Given the description of an element on the screen output the (x, y) to click on. 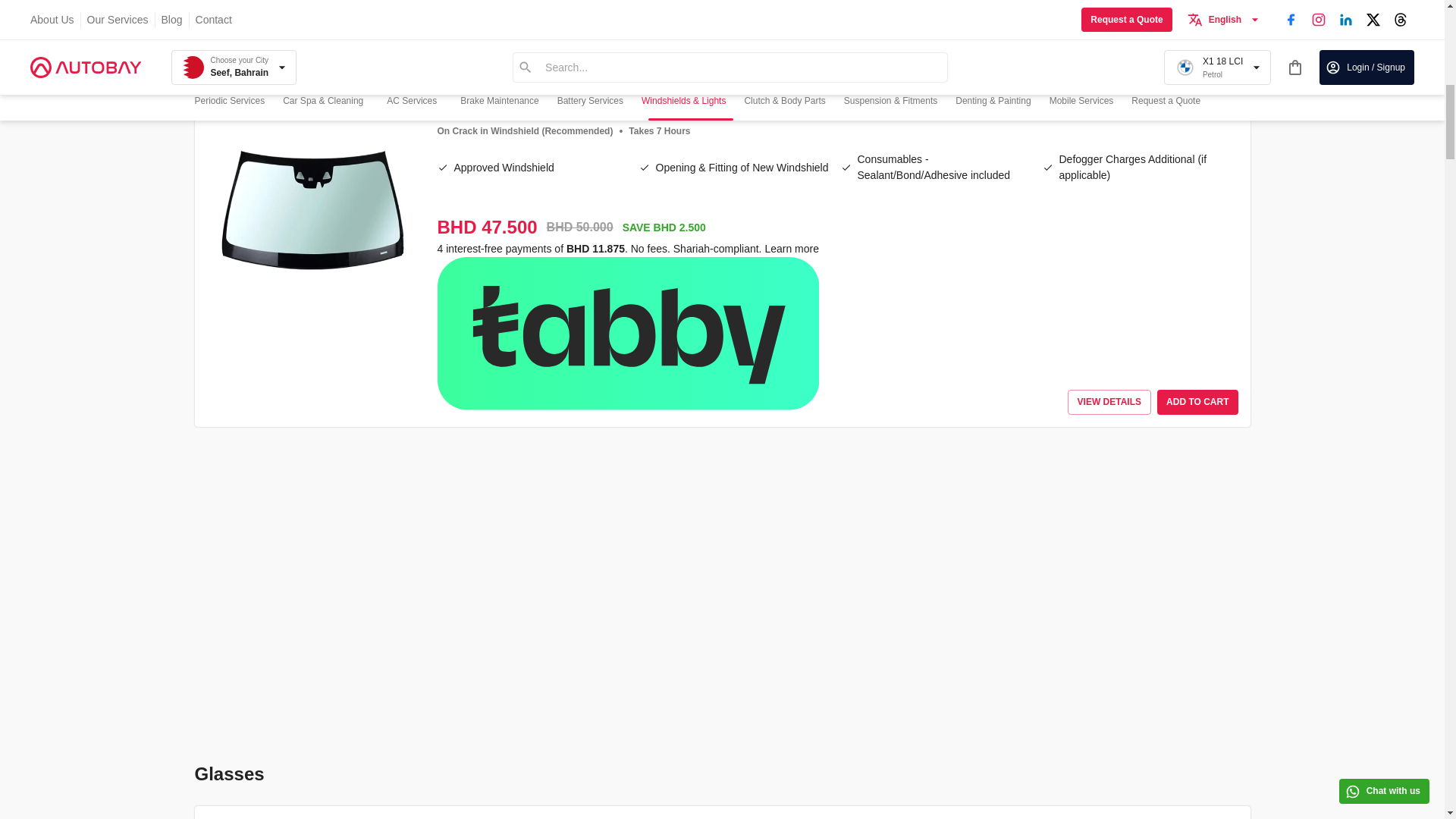
VIEW DETAILS (1109, 58)
ADD TO CART (1197, 58)
